Given the description of an element on the screen output the (x, y) to click on. 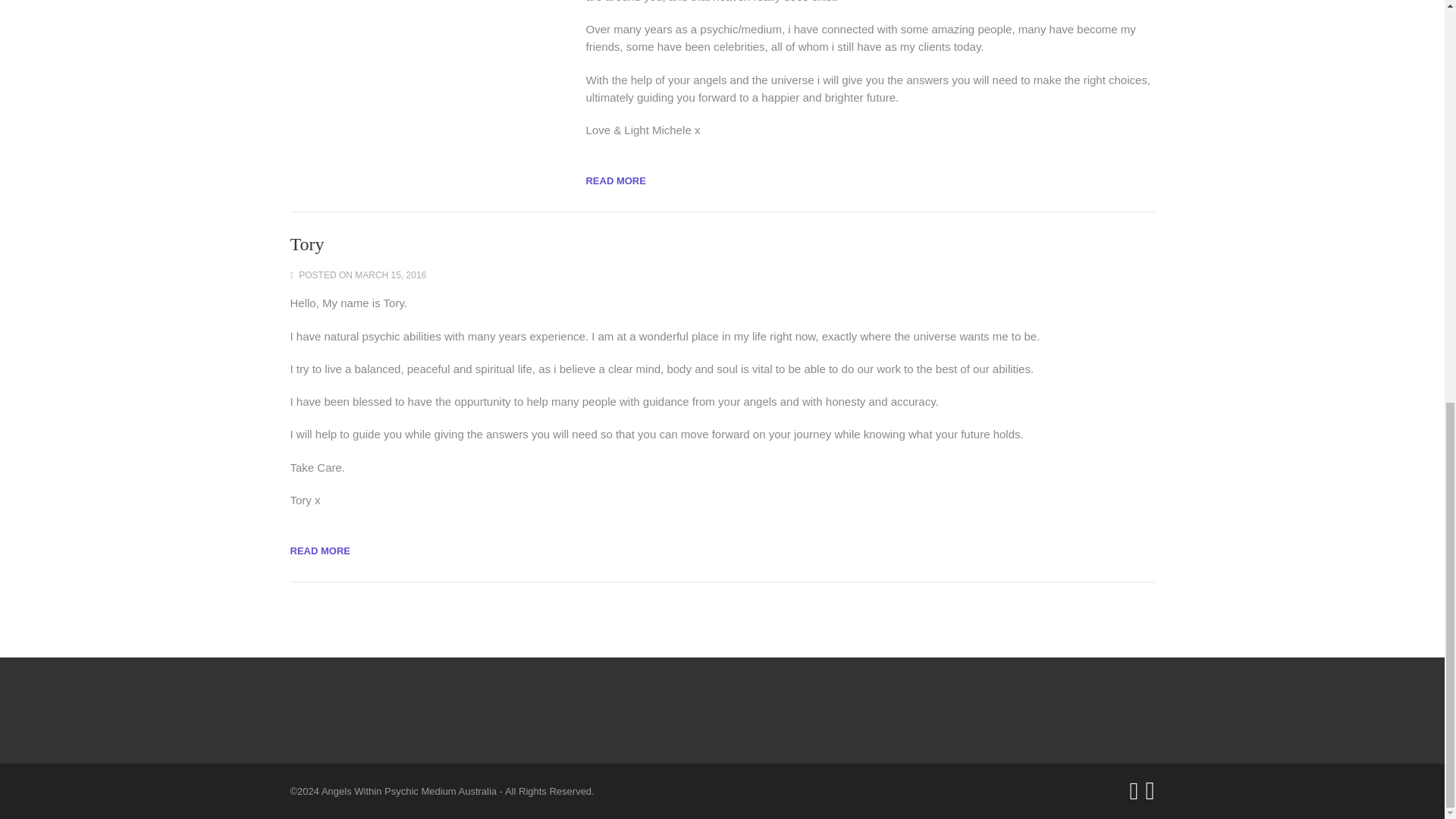
READ MORE (615, 180)
READ MORE (319, 550)
Tory (306, 243)
